Given the description of an element on the screen output the (x, y) to click on. 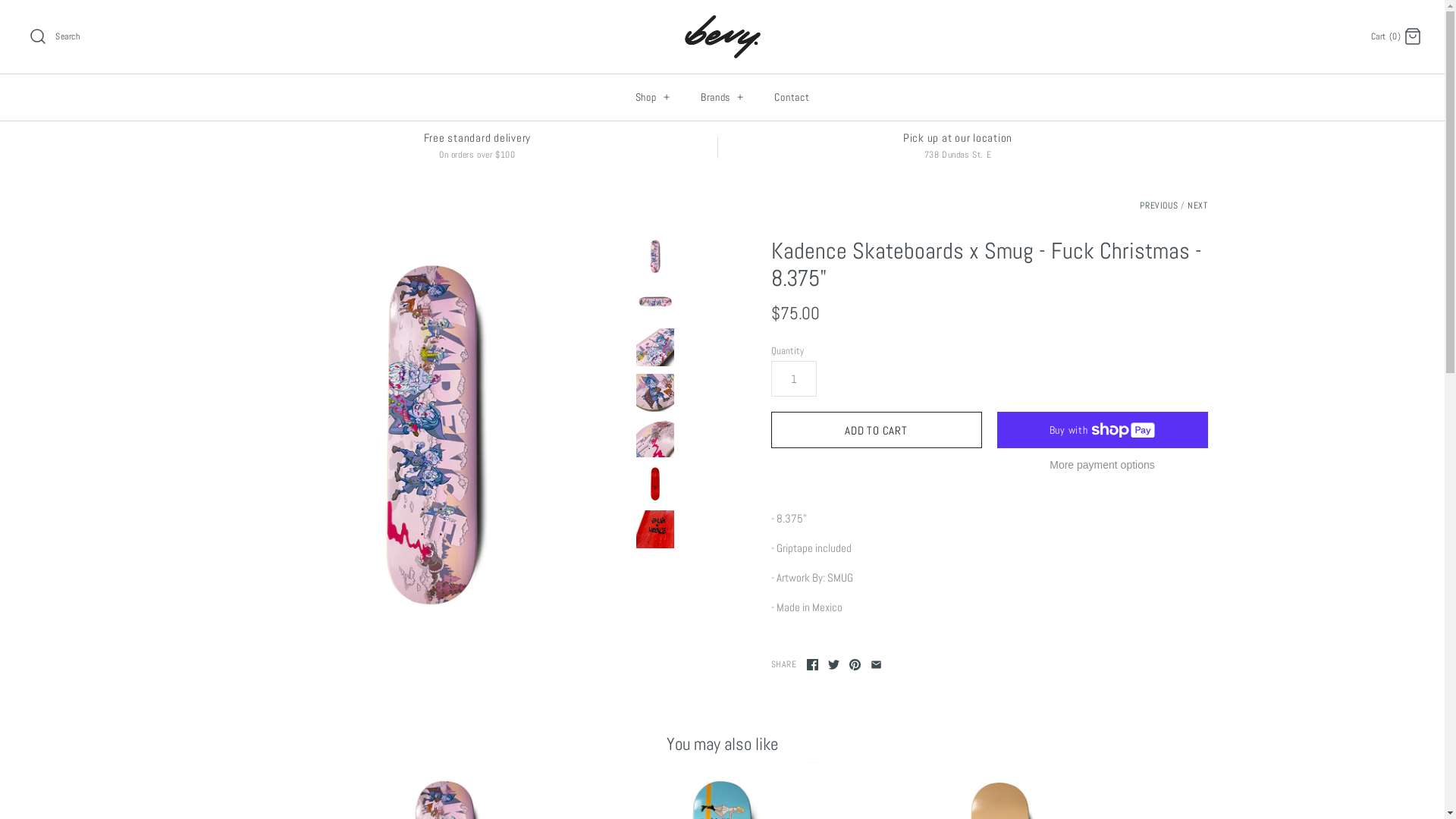
Contact Element type: text (791, 97)
Facebook Element type: text (812, 664)
Add to Cart Element type: text (875, 429)
Shop + Element type: text (652, 97)
Pinterest Element type: text (854, 664)
bevy shop Element type: hover (721, 23)
More payment options Element type: text (1101, 464)
Cart (0) Cart Element type: text (1396, 35)
Kadence Skateboards x Smug - Fuck Christmas - 8.375" Element type: hover (654, 529)
Twitter Element type: text (833, 664)
PREVIOUS Element type: text (1158, 205)
Kadence Skateboards x Smug - Fuck Christmas - 8.375" Element type: hover (654, 392)
Email Element type: text (875, 664)
Kadence Skateboards x Smug - Fuck Christmas - 8.375" Element type: hover (654, 256)
Kadence Skateboards x Smug - Fuck Christmas - 8.375" Element type: hover (654, 483)
NEXT Element type: text (1197, 205)
Kadence Skateboards x Smug - Fuck Christmas - 8.375" Element type: hover (654, 438)
Kadence Skateboards x Smug - Fuck Christmas - 8.375" Element type: hover (654, 301)
Kadence Skateboards x Smug - Fuck Christmas - 8.375" Element type: hover (654, 347)
Kadence Skateboards x Smug - Fuck Christmas - 8.375" Element type: hover (431, 432)
Brands + Element type: text (722, 97)
